Given the description of an element on the screen output the (x, y) to click on. 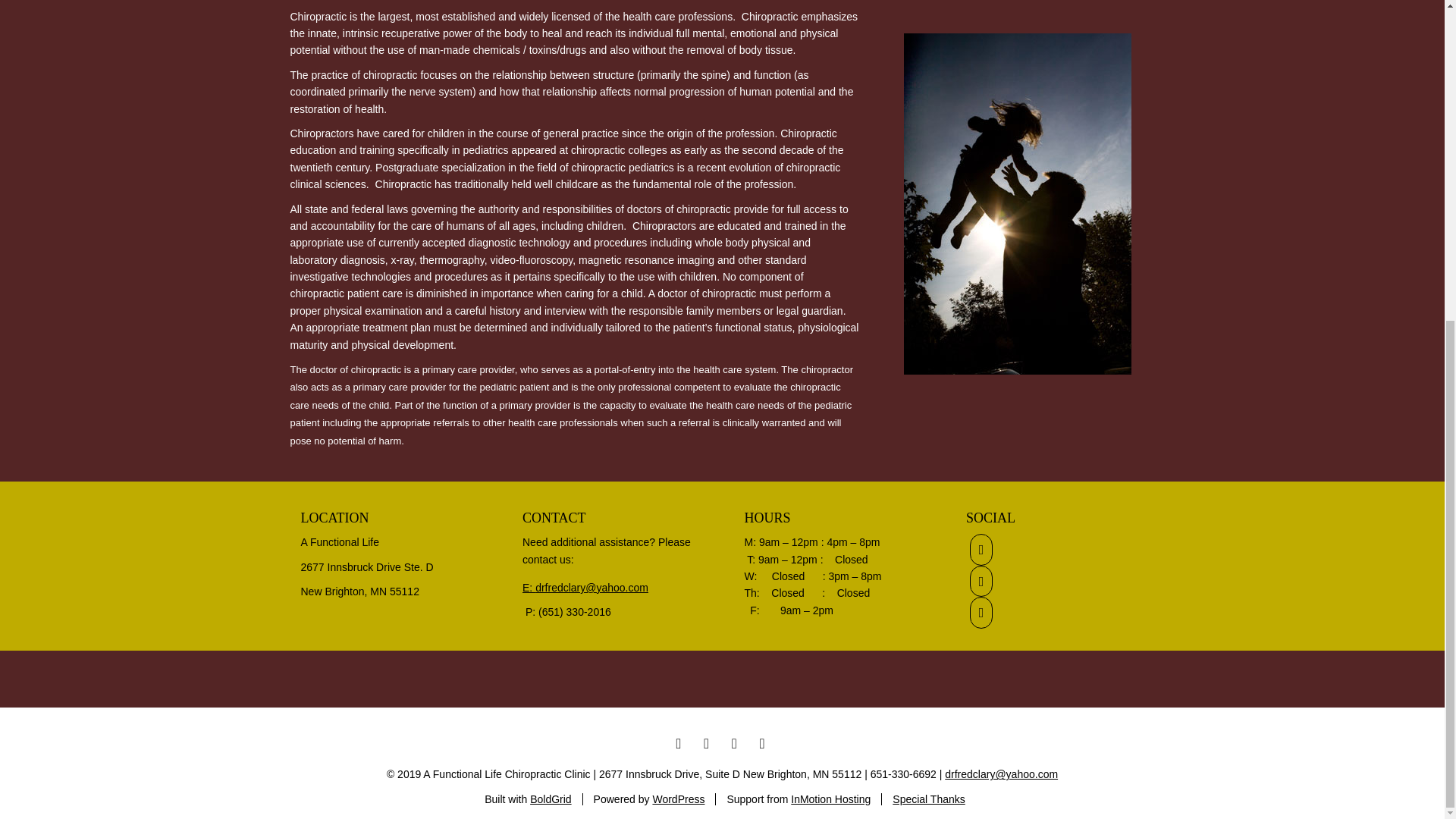
BoldGrid (549, 799)
E: (528, 587)
Special Thanks (927, 799)
InMotion Hosting (830, 799)
WordPress (678, 799)
